Given the description of an element on the screen output the (x, y) to click on. 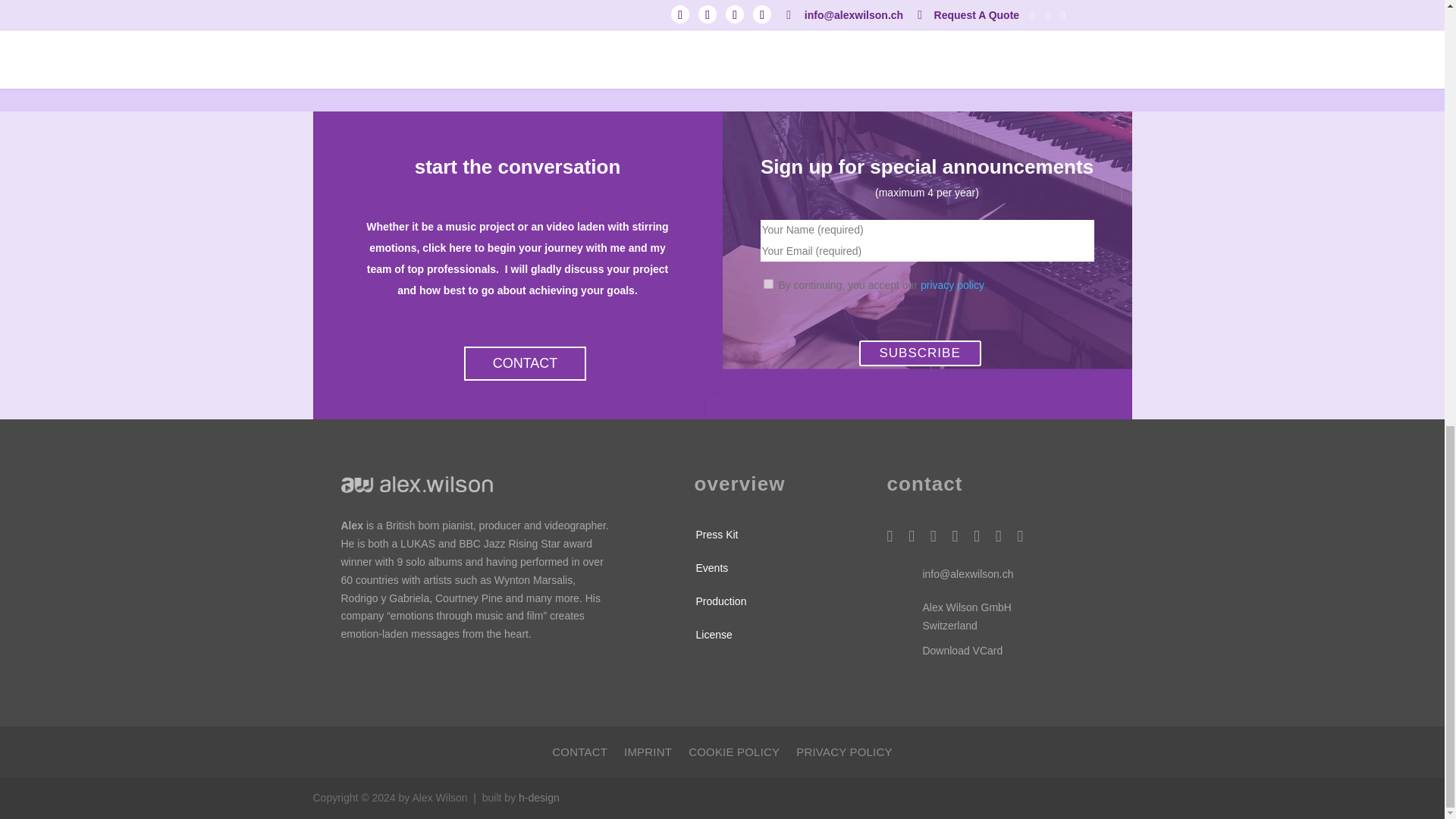
SUBSCRIBE (919, 353)
INGLATERRA (417, 22)
on (767, 284)
